Given the description of an element on the screen output the (x, y) to click on. 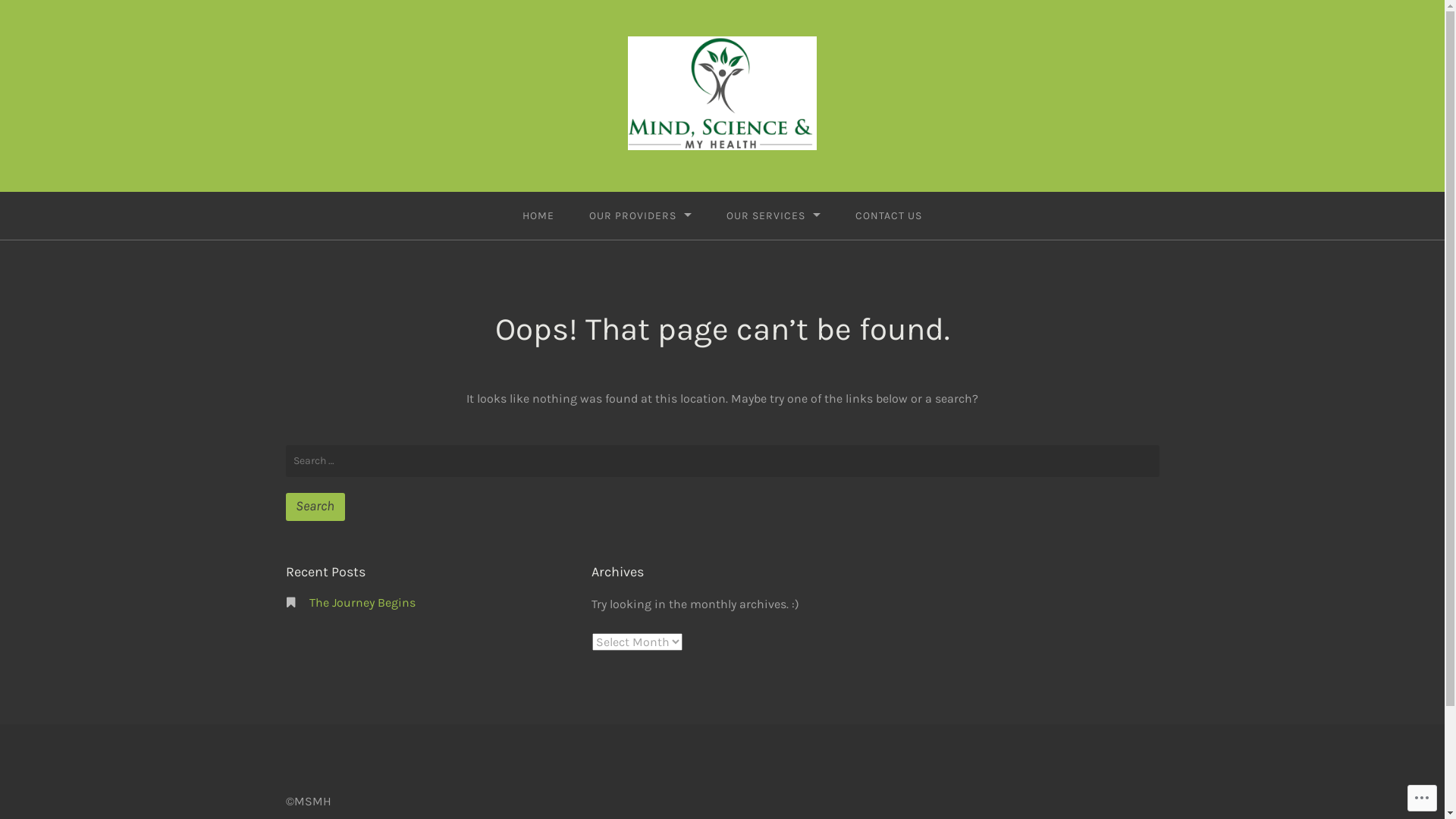
CONTACT US Element type: text (888, 215)
Search Element type: text (314, 506)
OUR PROVIDERS Element type: text (640, 215)
HOME Element type: text (538, 215)
Mind Science and My Health Element type: text (283, 198)
The Journey Begins Element type: text (362, 602)
OUR SERVICES Element type: text (773, 215)
